Given the description of an element on the screen output the (x, y) to click on. 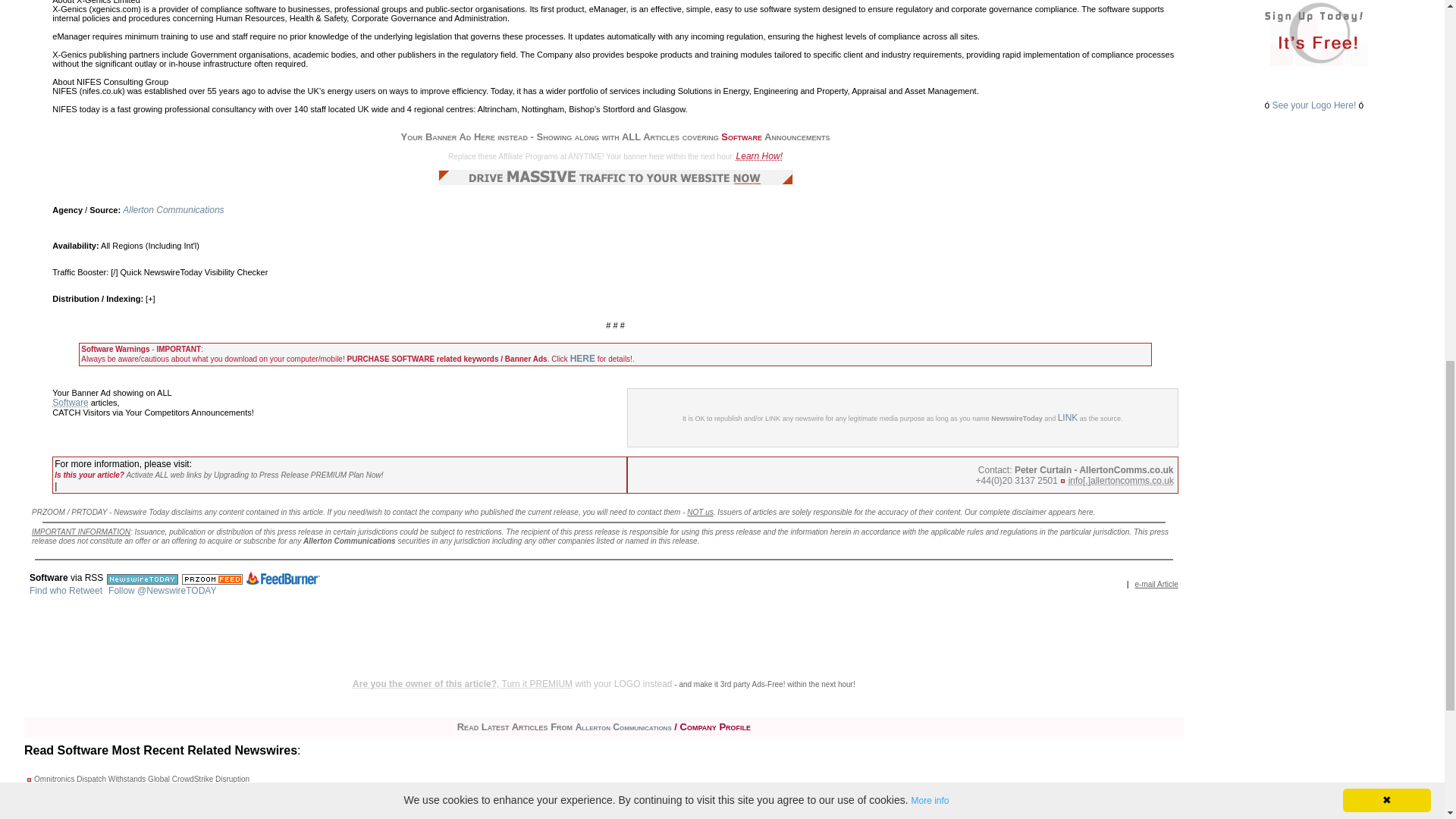
Allerton Communications (173, 209)
HERE (582, 357)
here (1085, 511)
LINK (1068, 417)
Find who Retweet (65, 590)
Quick NewswireToday (161, 271)
Software (69, 402)
e-mail Article (1156, 583)
Learn How! (759, 155)
